Given the description of an element on the screen output the (x, y) to click on. 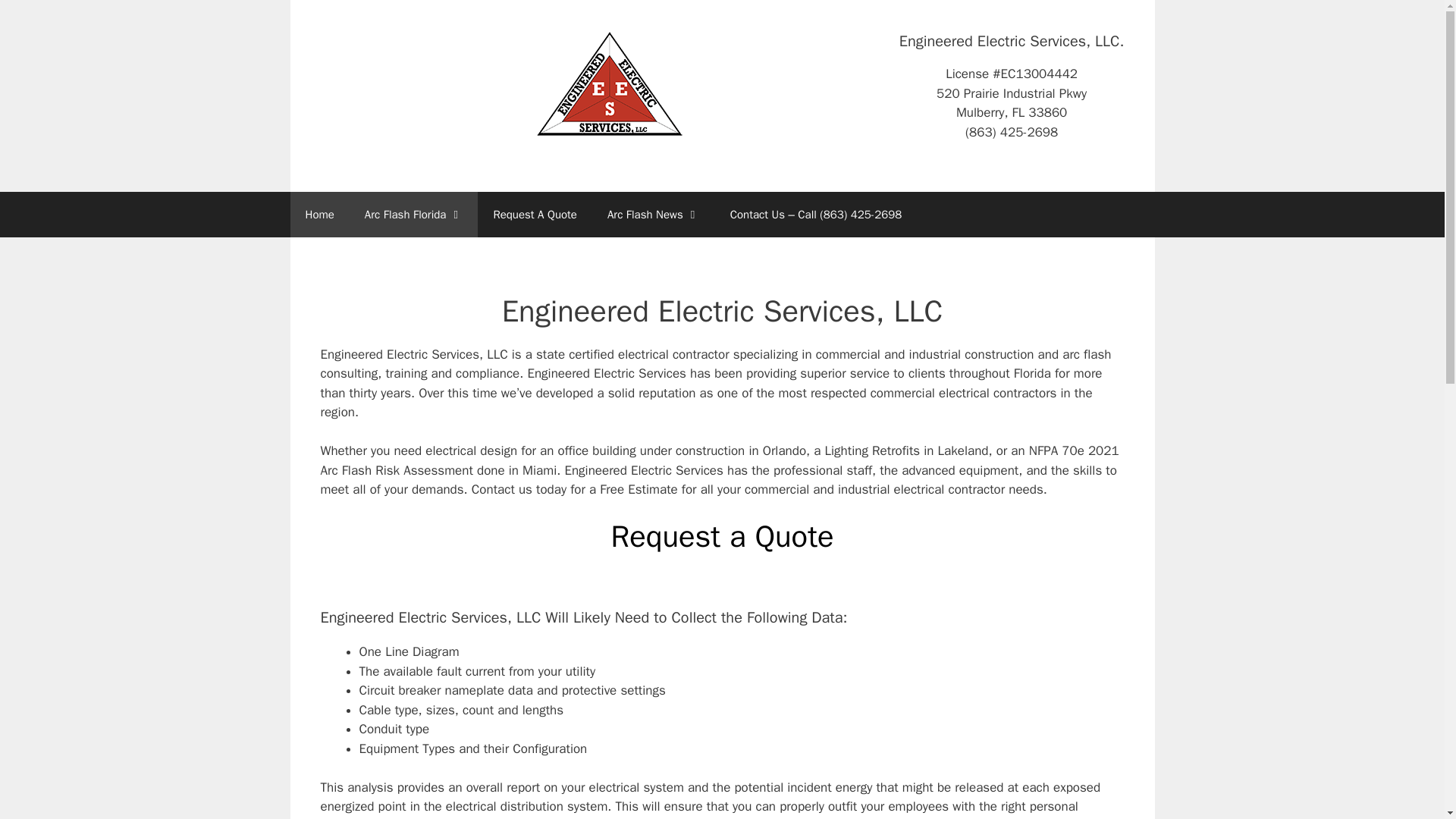
Arc Flash Florida (609, 84)
Arc Flash Florida (609, 82)
Arc Flash Florida (414, 213)
Home (319, 213)
Request A Quote (534, 213)
Arc Flash News (653, 213)
